Given the description of an element on the screen output the (x, y) to click on. 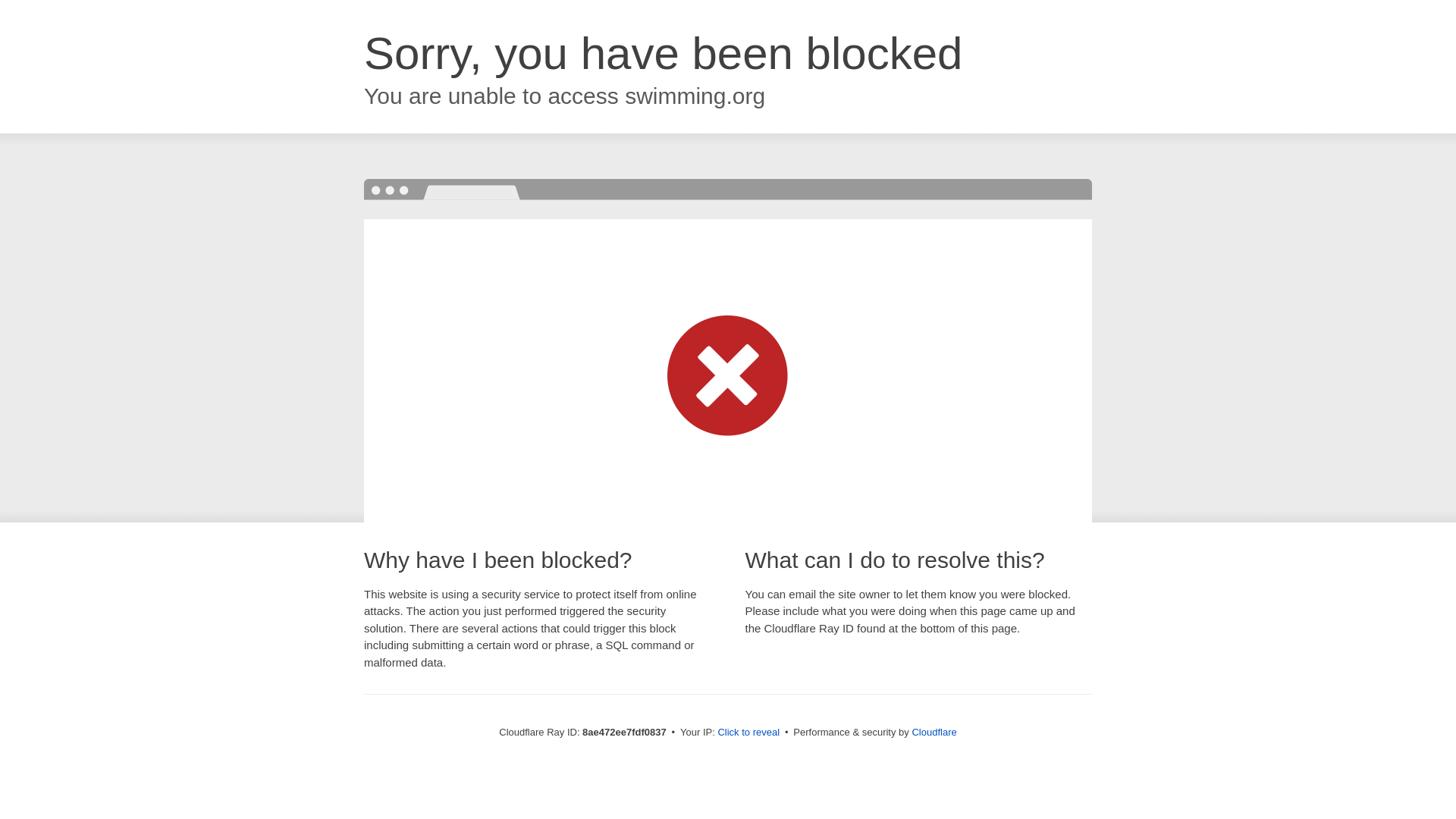
Cloudflare (933, 731)
Click to reveal (747, 732)
